Given the description of an element on the screen output the (x, y) to click on. 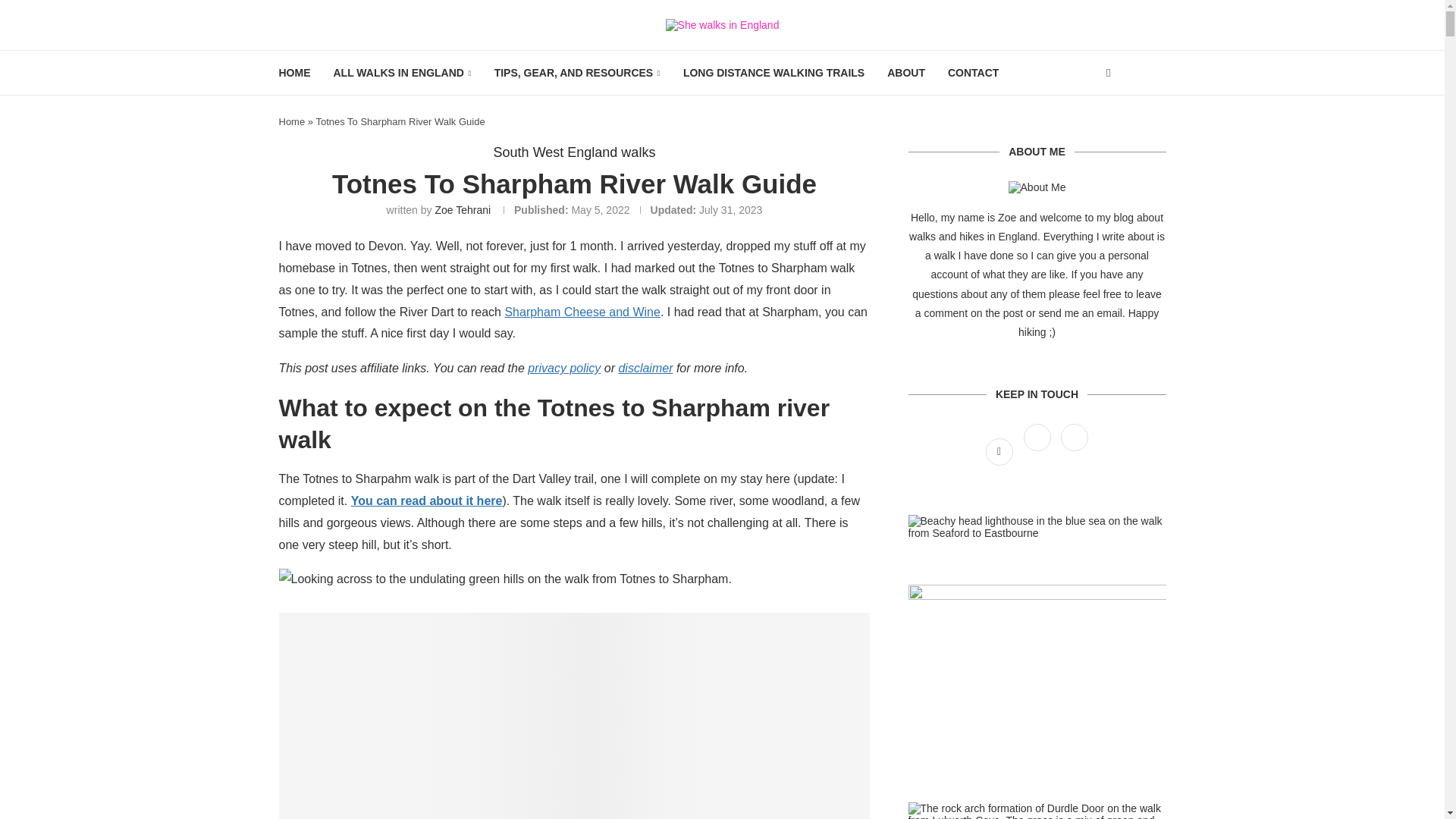
TIPS, GEAR, AND RESOURCES (578, 72)
LONG DISTANCE WALKING TRAILS (773, 72)
ABOUT (905, 72)
ALL WALKS IN ENGLAND (402, 72)
CONTACT (972, 72)
HOME (295, 72)
